Given the description of an element on the screen output the (x, y) to click on. 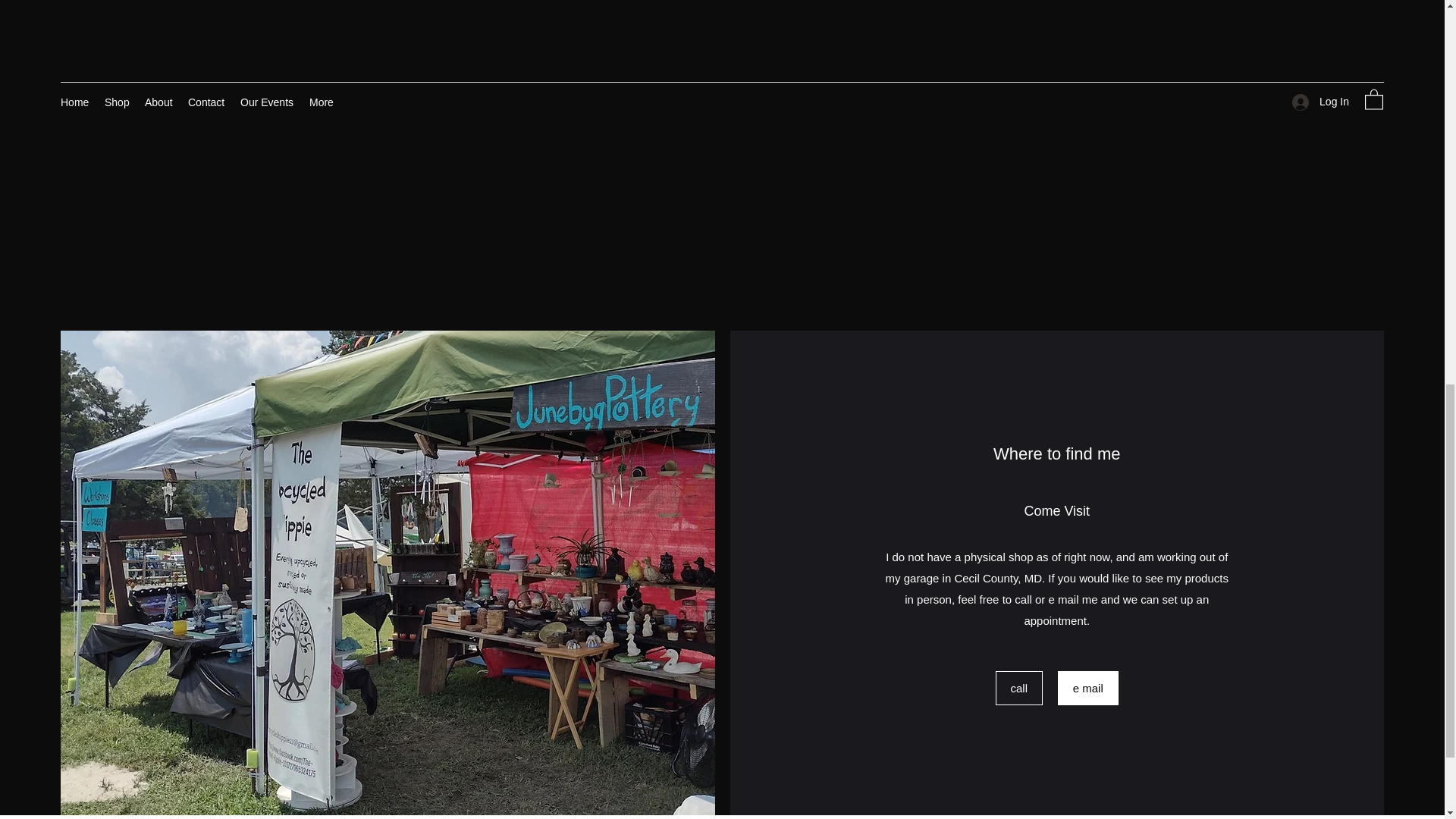
e mail (1088, 687)
call (1018, 687)
